Given the description of an element on the screen output the (x, y) to click on. 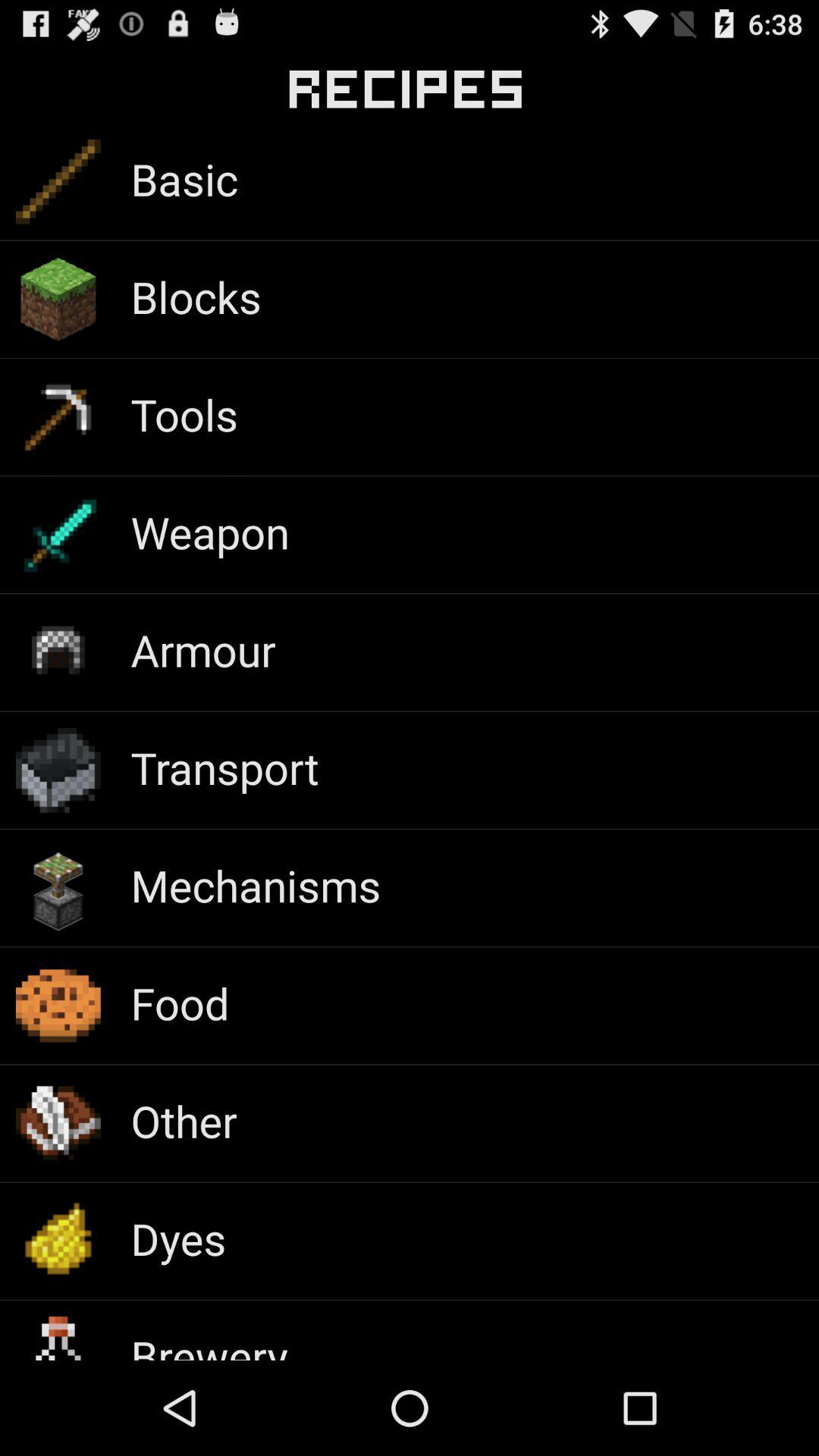
swipe until the brewery (208, 1343)
